Given the description of an element on the screen output the (x, y) to click on. 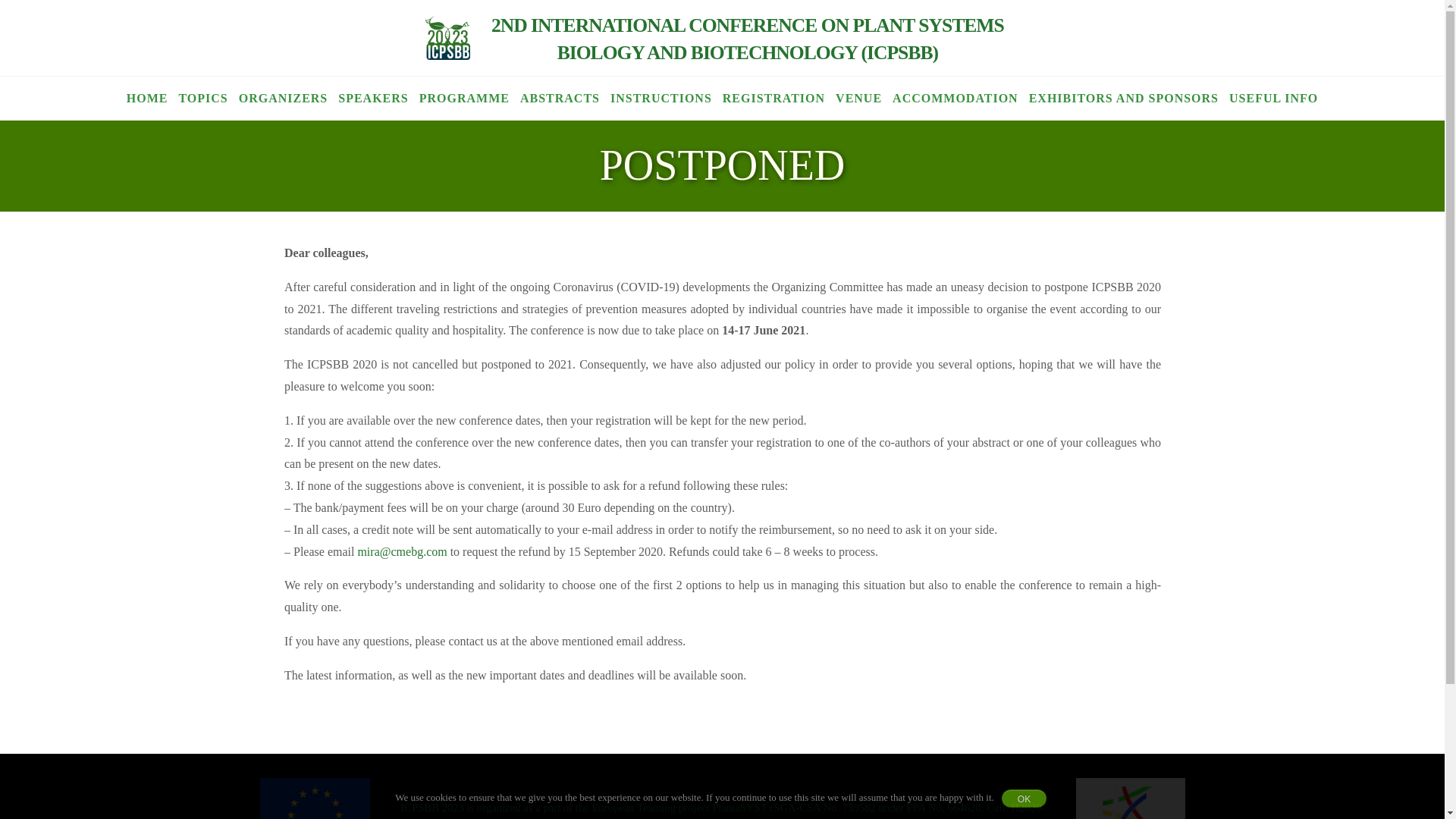
SPEAKERS (373, 98)
TOPICS (202, 98)
VENUE (857, 98)
ORGANIZERS (282, 98)
USEFUL INFO (1273, 98)
HOME (146, 98)
OK (1023, 798)
ABSTRACTS (560, 98)
ACCOMMODATION (954, 98)
Conference 2023 (747, 39)
REGISTRATION (773, 98)
PROGRAMME (464, 98)
INSTRUCTIONS (661, 98)
EXHIBITORS AND SPONSORS (1123, 98)
